Given the description of an element on the screen output the (x, y) to click on. 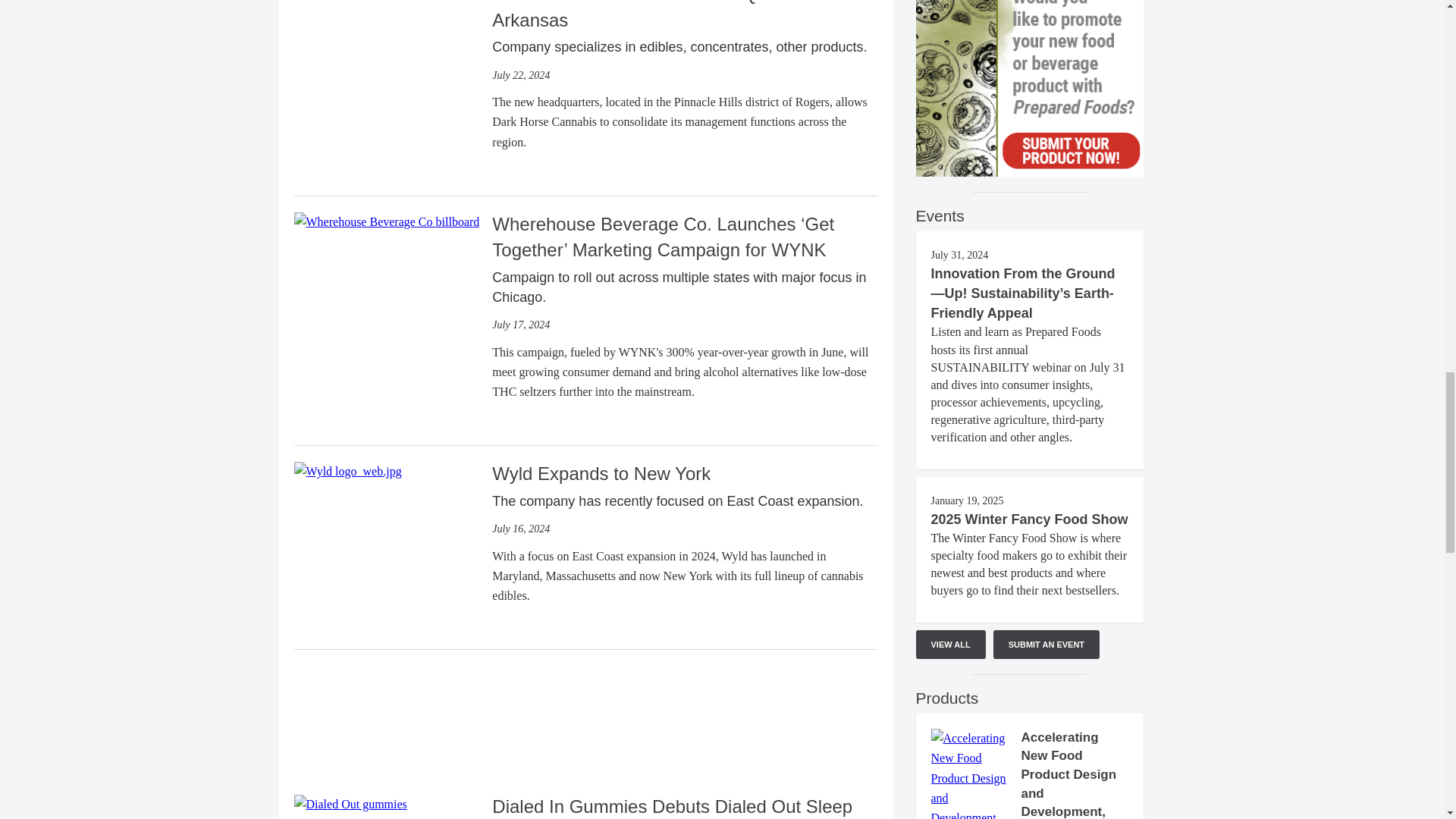
Wherehouse Beverage Co billboard (387, 221)
Dark Horse Cannabis logo (364, 0)
Wyld Expands to New York (347, 470)
